Given the description of an element on the screen output the (x, y) to click on. 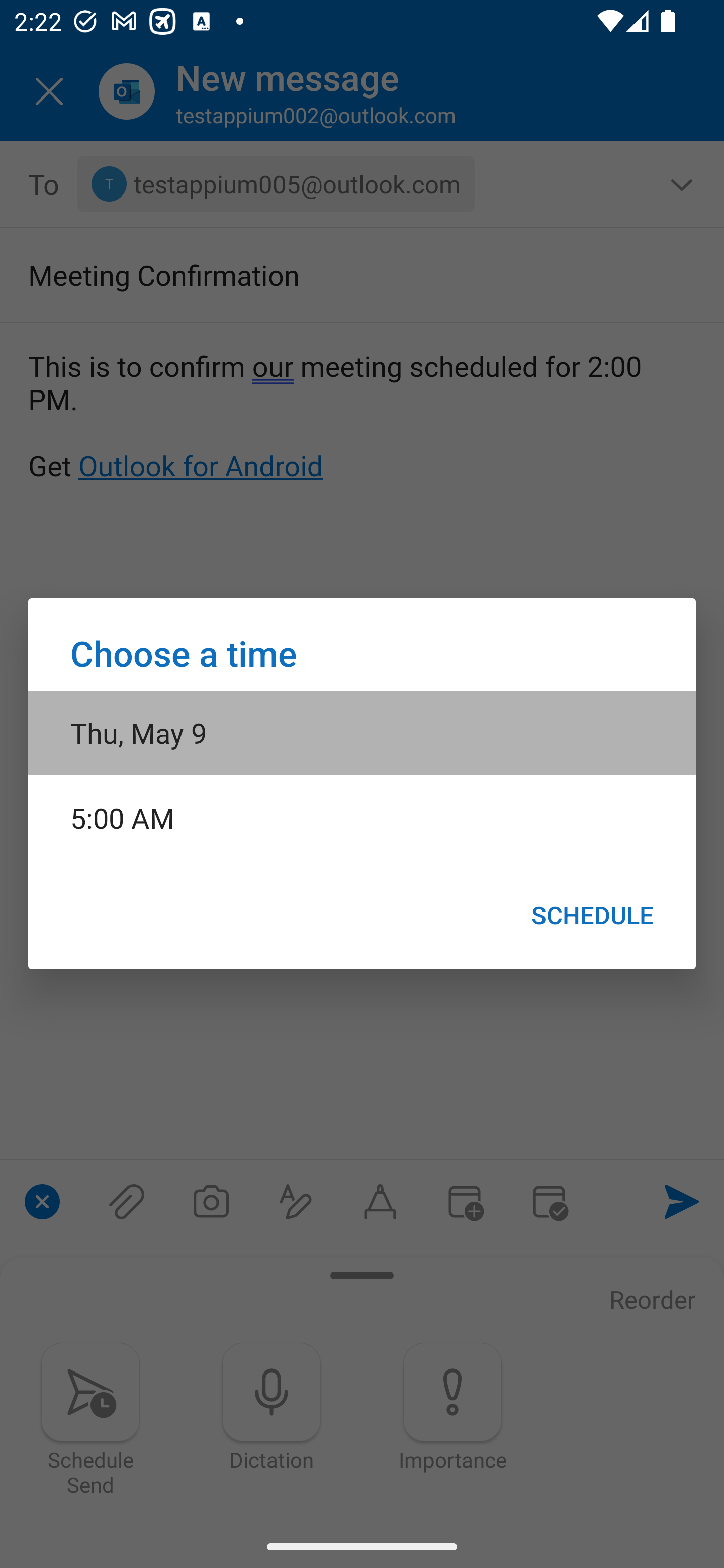
Thu, May 9 Choose date Thu, May 9 (361, 731)
5:00 AM Choose time 5:00 AM (361, 817)
SCHEDULE (592, 914)
